Given the description of an element on the screen output the (x, y) to click on. 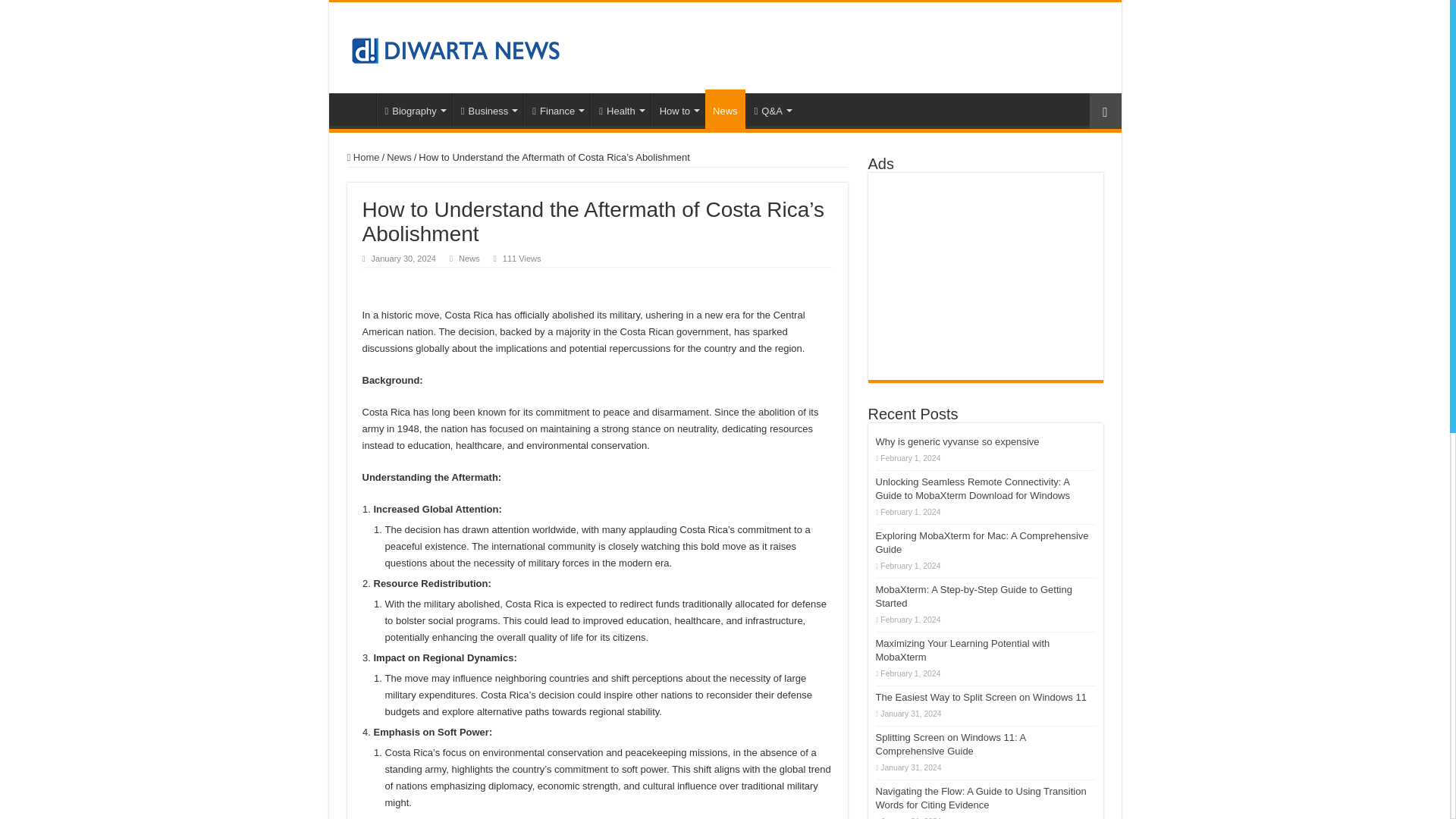
Best Guide for You! (355, 109)
Finance (556, 109)
Home (355, 109)
Biography (413, 109)
Health (620, 109)
Business (488, 109)
